Given the description of an element on the screen output the (x, y) to click on. 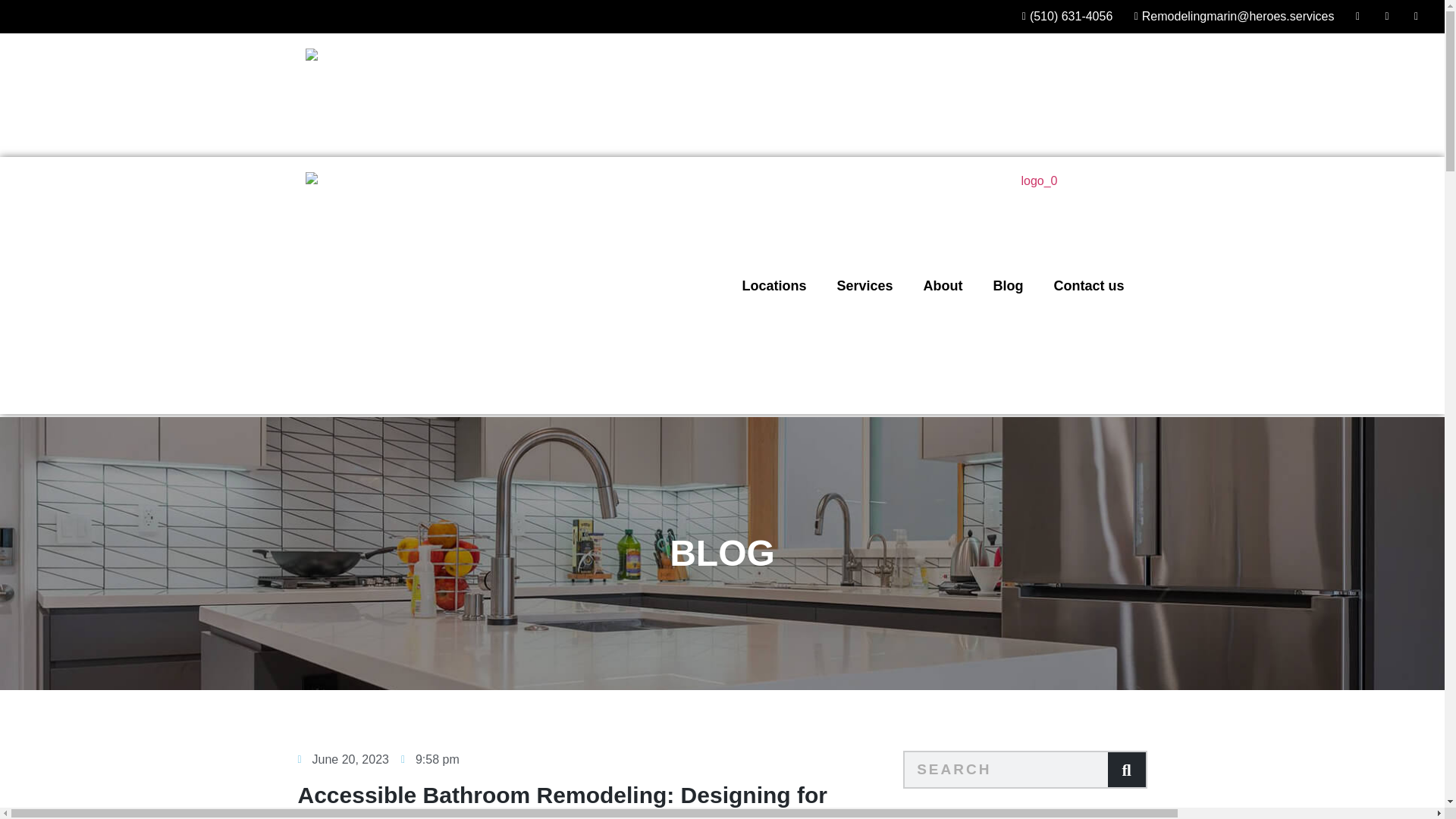
About (943, 161)
Locations (773, 161)
Services (864, 161)
Contact us (1088, 161)
Blog (1007, 161)
